Given the description of an element on the screen output the (x, y) to click on. 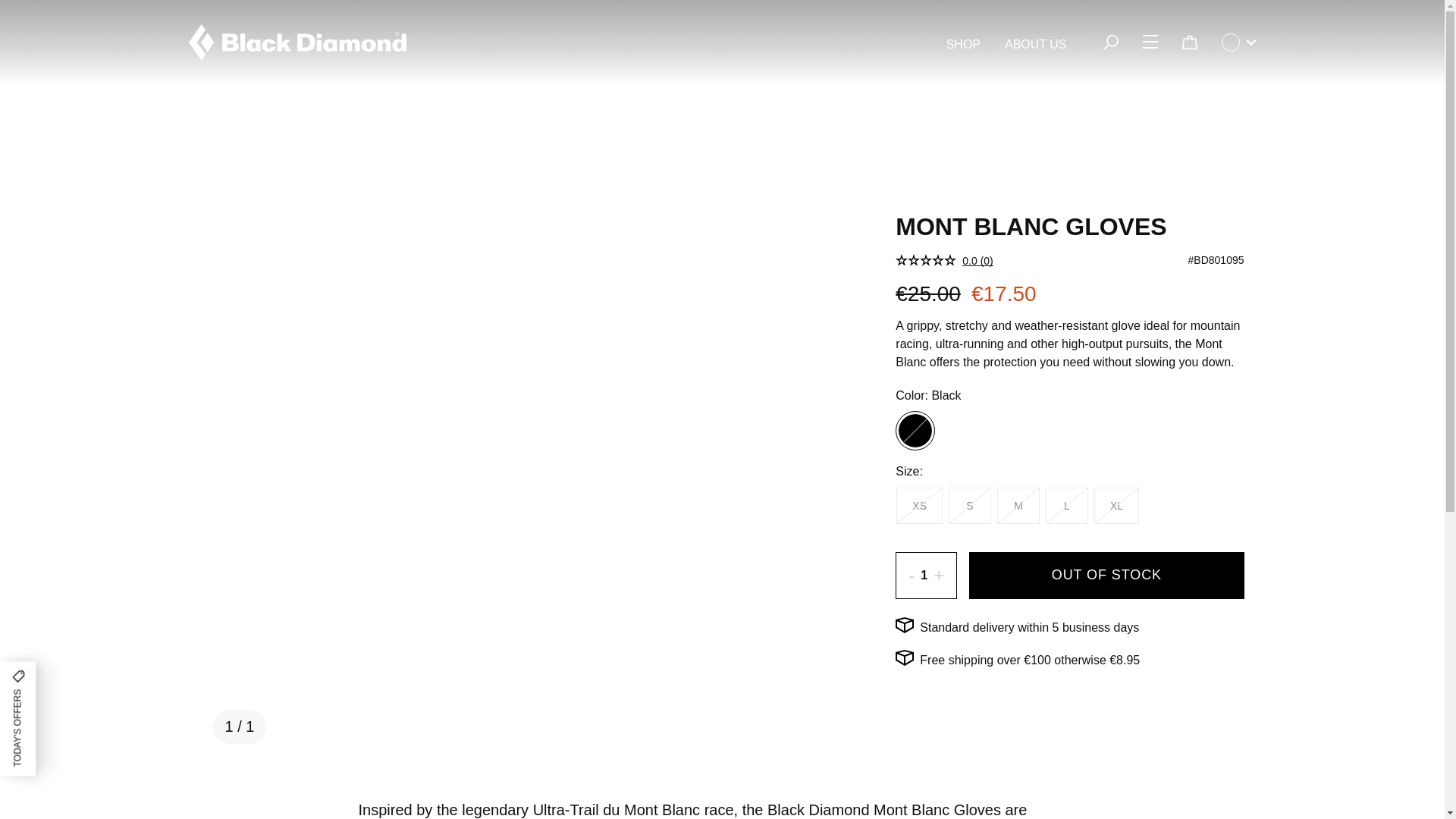
XS Out of Stock (919, 505)
L Out of Stock (1066, 505)
ABOUT US (1035, 44)
XL Out of Stock (1116, 505)
CART (1188, 42)
Black Out of Stock (914, 430)
Black Diamond (296, 42)
Change Locale (1238, 42)
Black Diamond (296, 42)
SHOP (963, 44)
M Out of Stock (1018, 505)
S Out of Stock (970, 505)
